Given the description of an element on the screen output the (x, y) to click on. 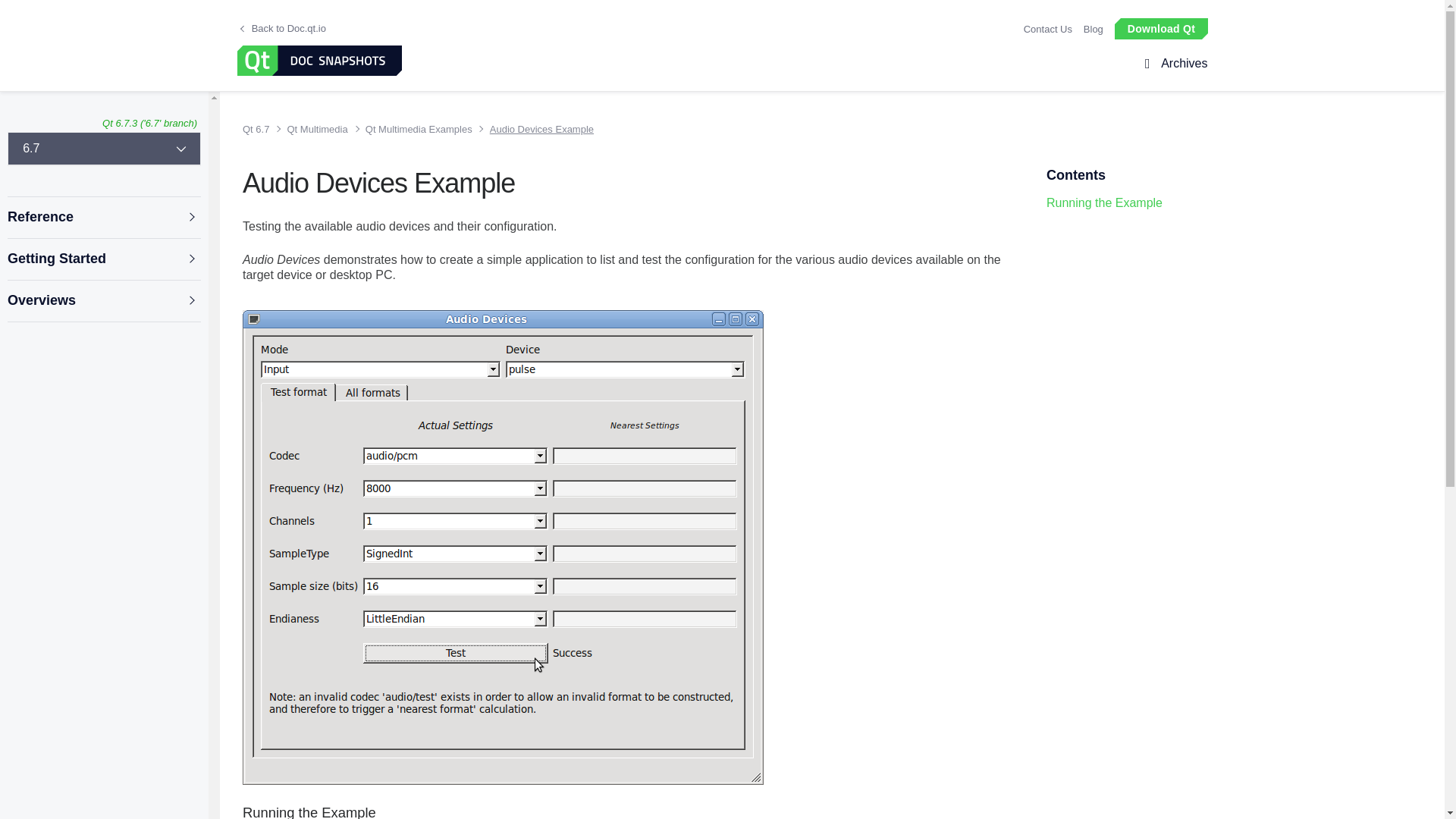
Archives (1181, 63)
Audio Devices Example (535, 129)
Qt Multimedia Examples (415, 129)
Download Qt (1160, 27)
Getting Started (103, 258)
Contact Us (1047, 28)
Back to Doc.qt.io (282, 28)
Blog (1093, 28)
Qt Multimedia (314, 129)
Overviews (103, 300)
